Given the description of an element on the screen output the (x, y) to click on. 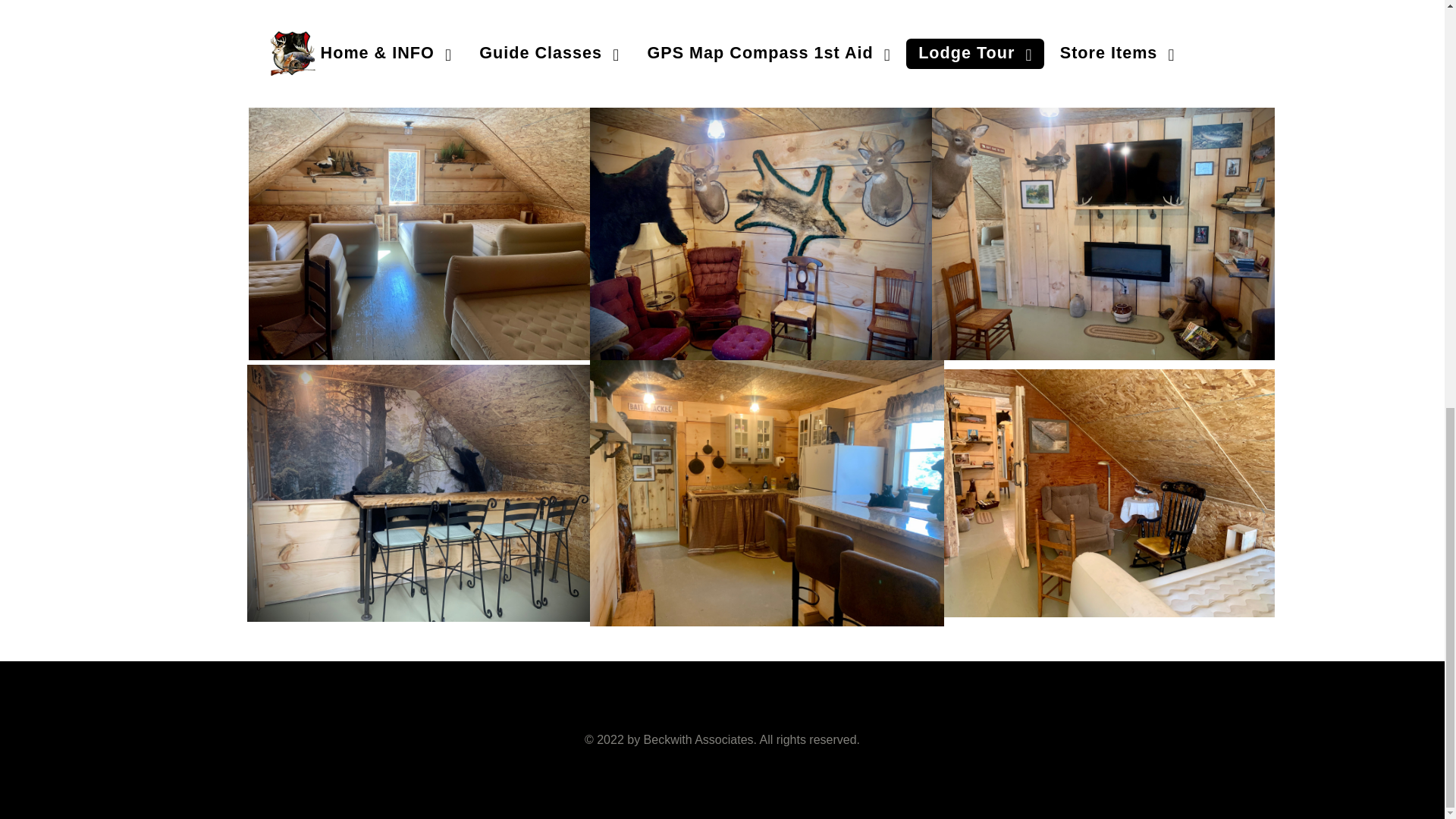
Attic Lodge Outdoor Learning Center (698, 739)
Beckwith Associates (698, 739)
